Given the description of an element on the screen output the (x, y) to click on. 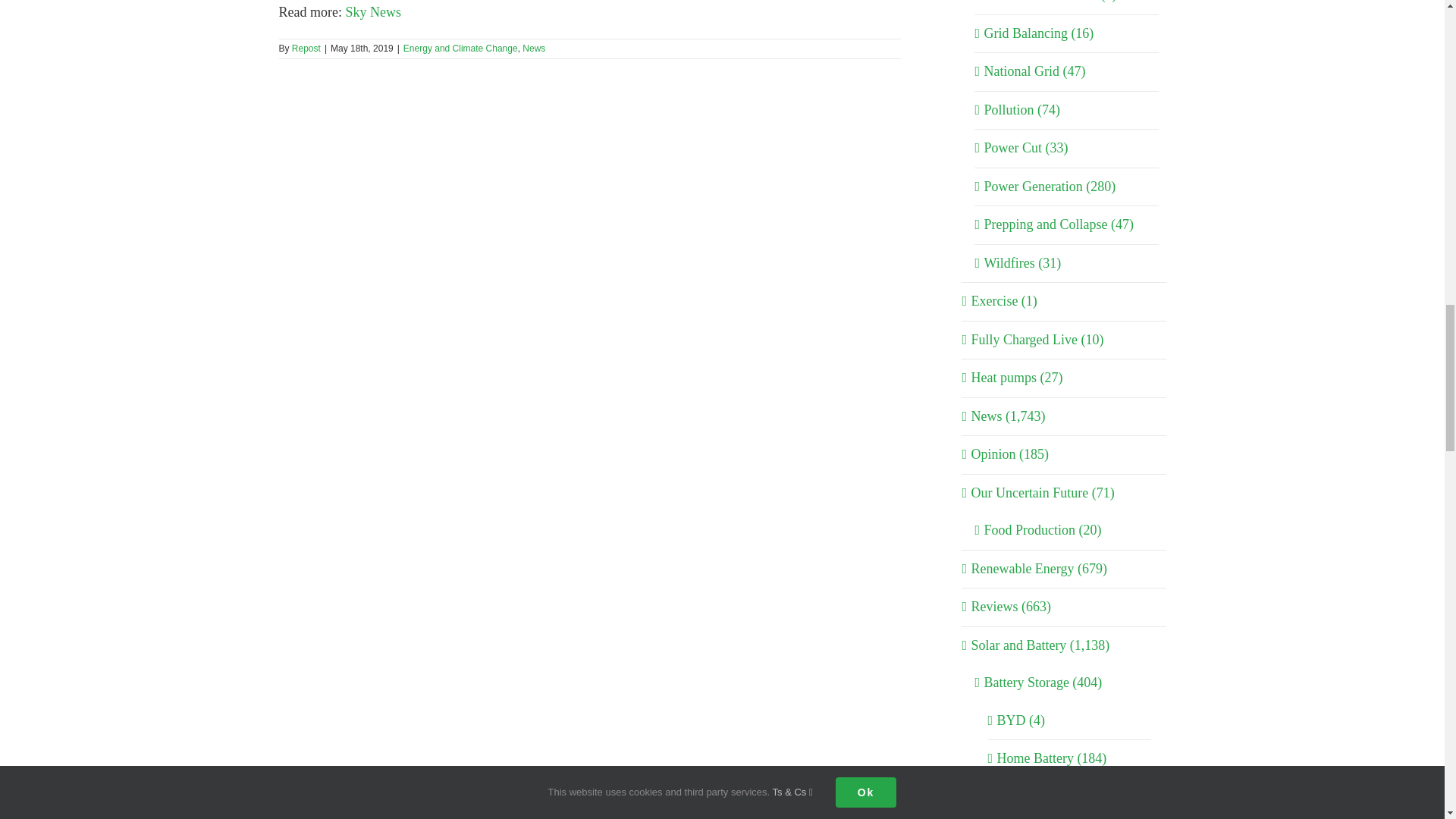
Posts by Repost (306, 48)
